Given the description of an element on the screen output the (x, y) to click on. 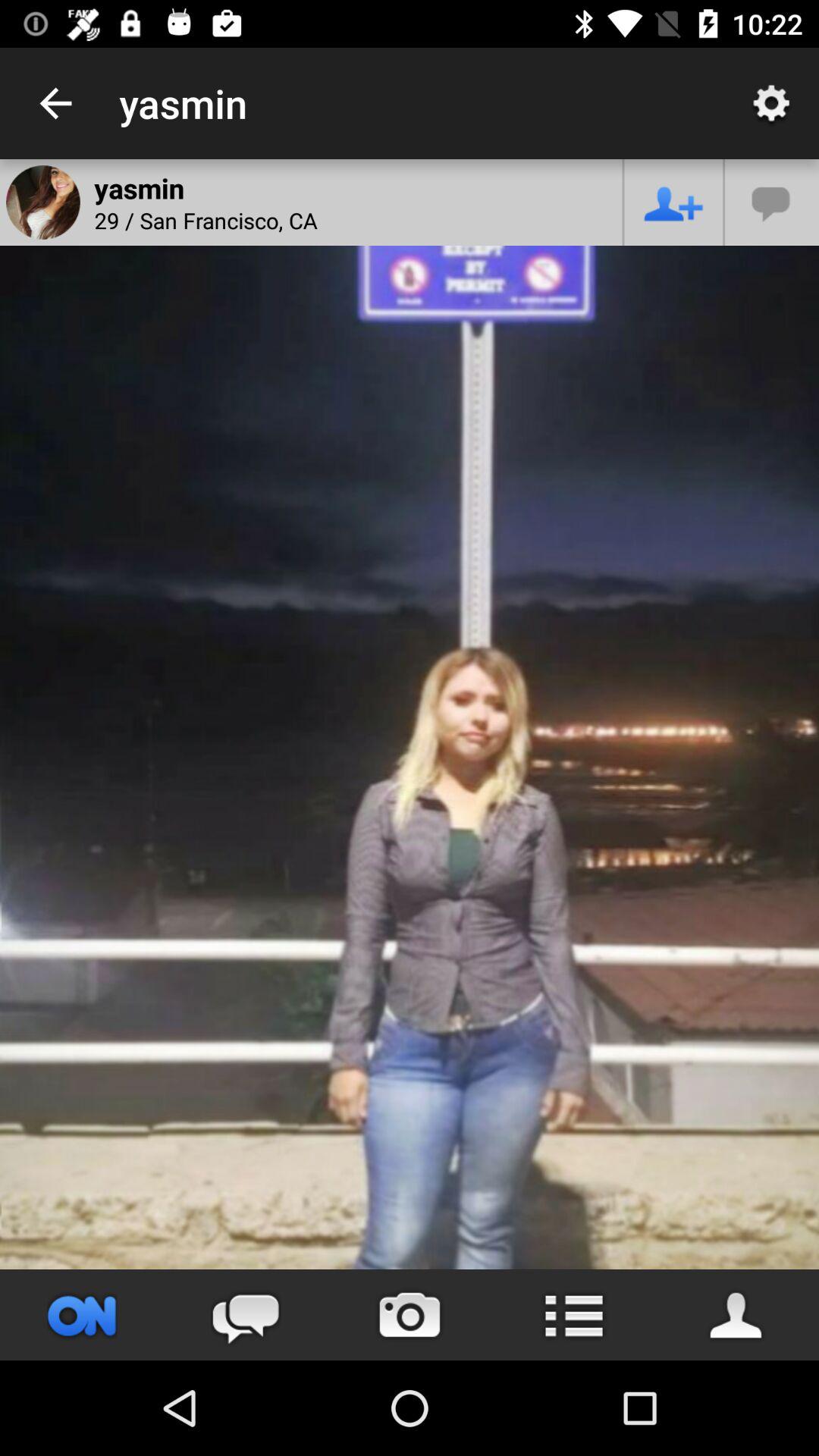
open list (573, 1315)
